Given the description of an element on the screen output the (x, y) to click on. 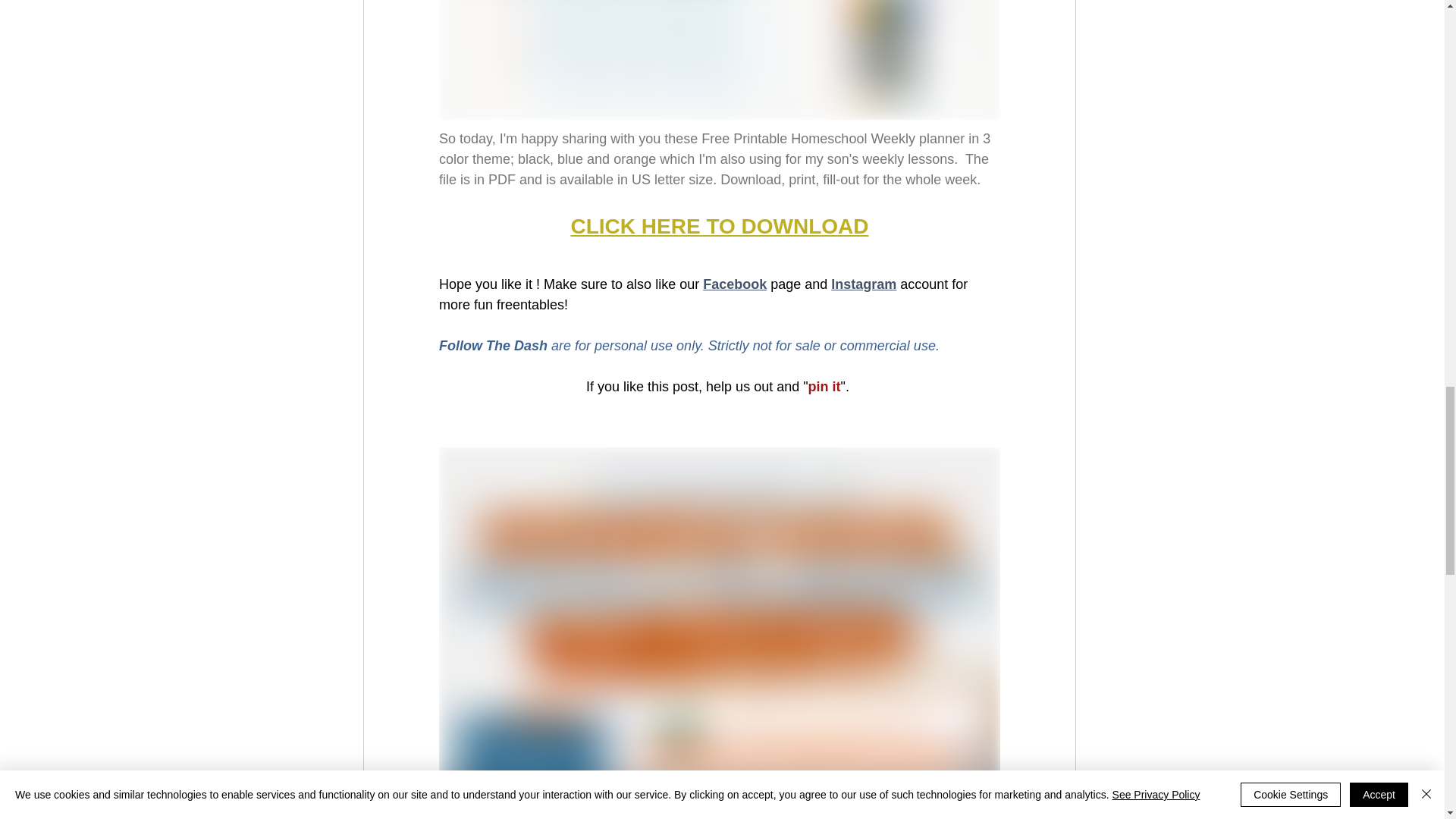
CLICK HERE TO DOWNLOAD (718, 226)
Facebook (735, 283)
Instagram (863, 283)
